Given the description of an element on the screen output the (x, y) to click on. 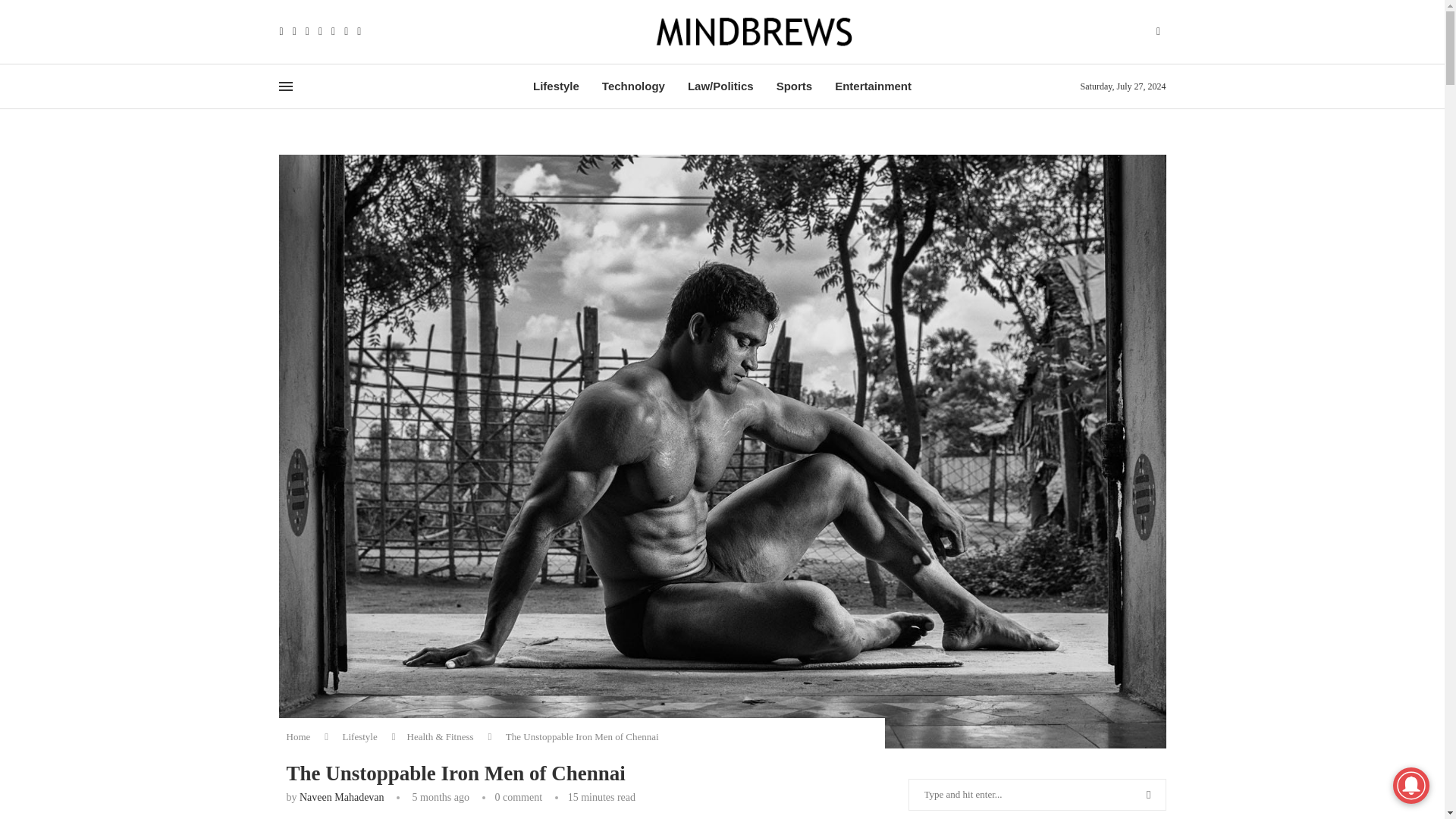
Technology (633, 86)
Naveen Mahadevan (341, 797)
Lifestyle (555, 86)
Entertainment (872, 86)
